Given the description of an element on the screen output the (x, y) to click on. 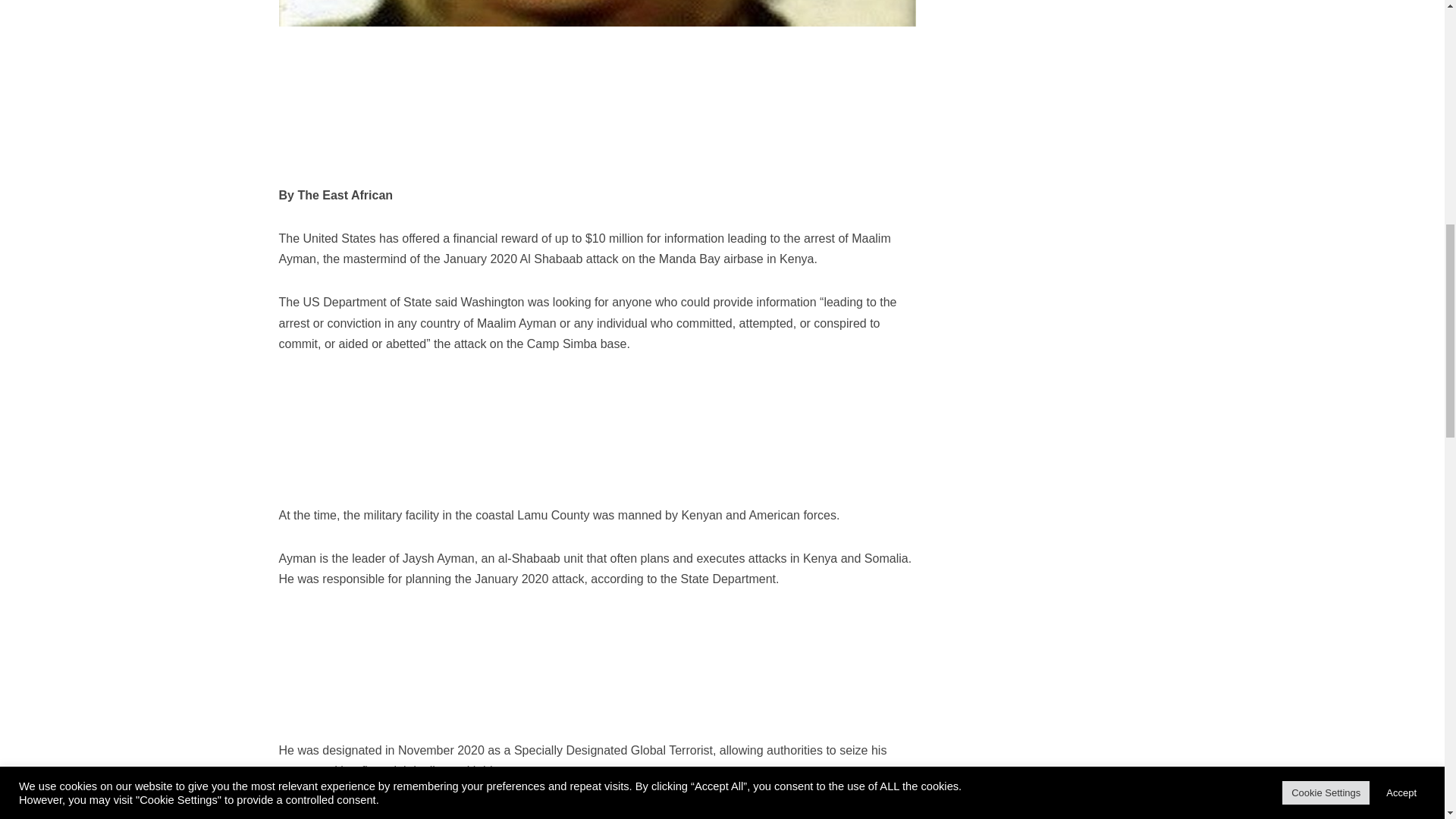
Advertisement (1052, 484)
Advertisement (1052, 63)
